Given the description of an element on the screen output the (x, y) to click on. 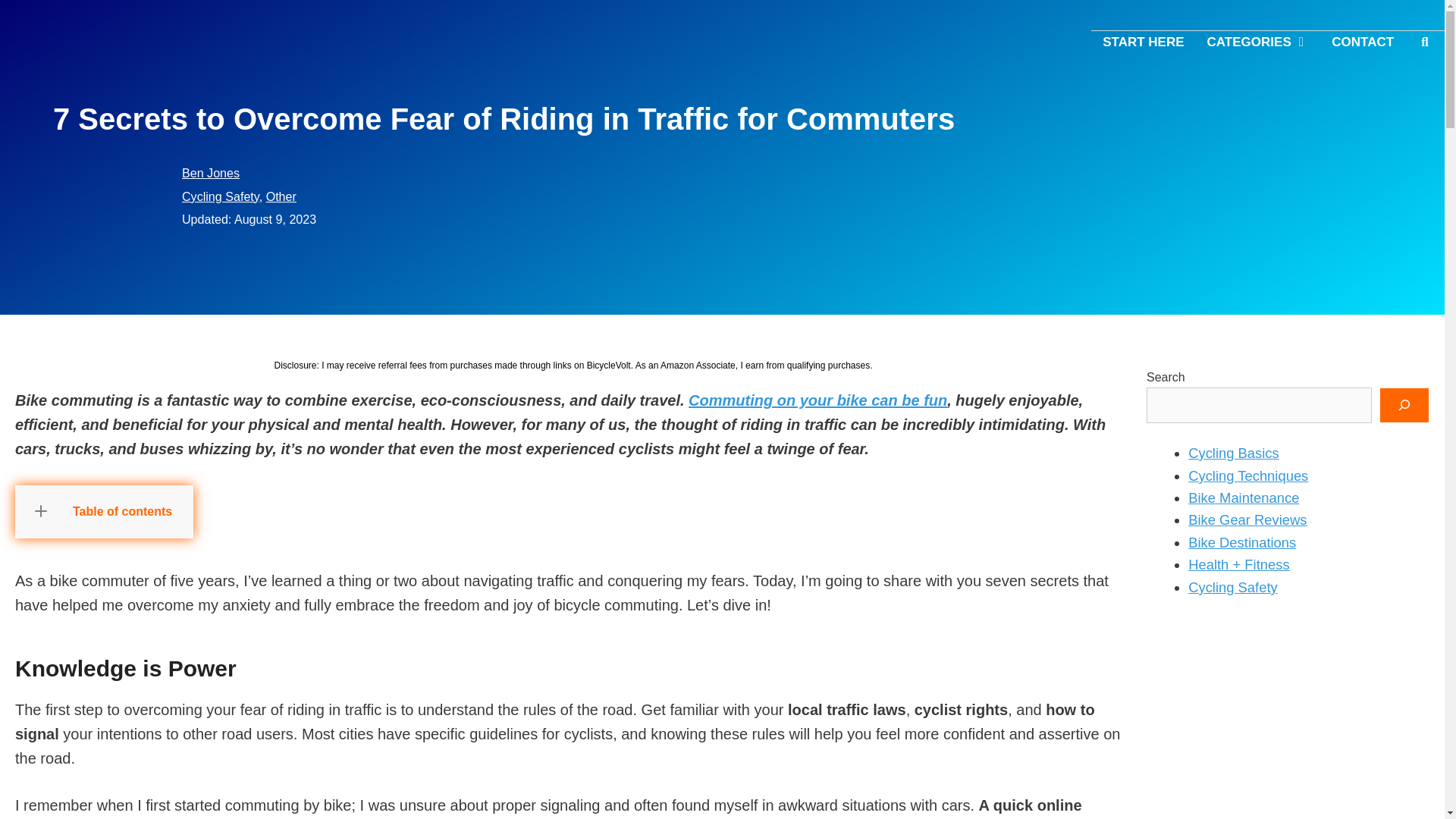
Other (281, 196)
START HERE (1142, 41)
Cycling Safety (220, 196)
CATEGORIES (1257, 41)
BicycleVolt (34, 40)
Commuting on your bike can be fun (817, 400)
Ben Jones (211, 172)
CONTACT (1362, 41)
